Given the description of an element on the screen output the (x, y) to click on. 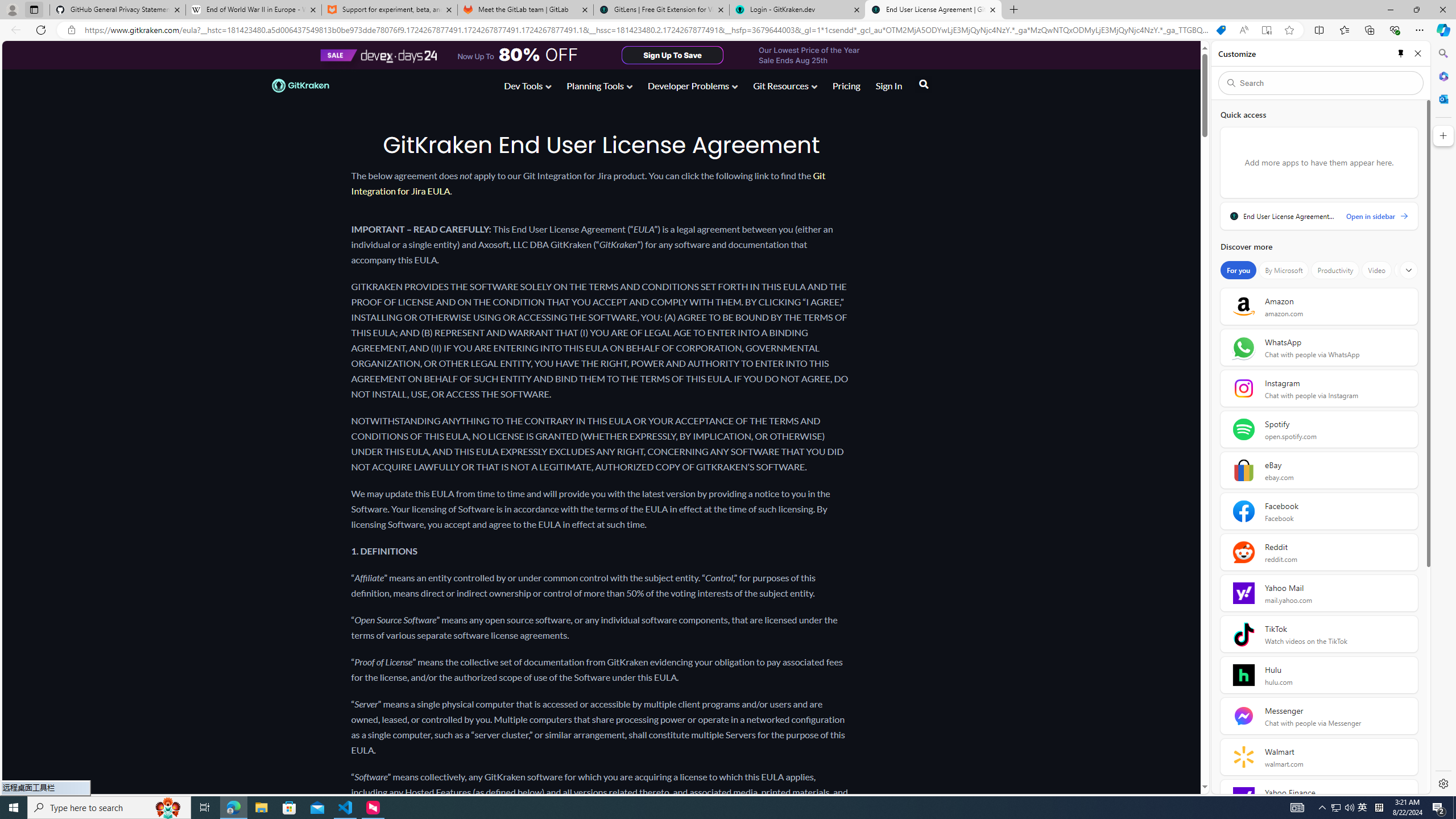
Login - GitKraken.dev (797, 9)
End User License Agreement | GitKraken (933, 9)
Productivity (1334, 270)
